Given the description of an element on the screen output the (x, y) to click on. 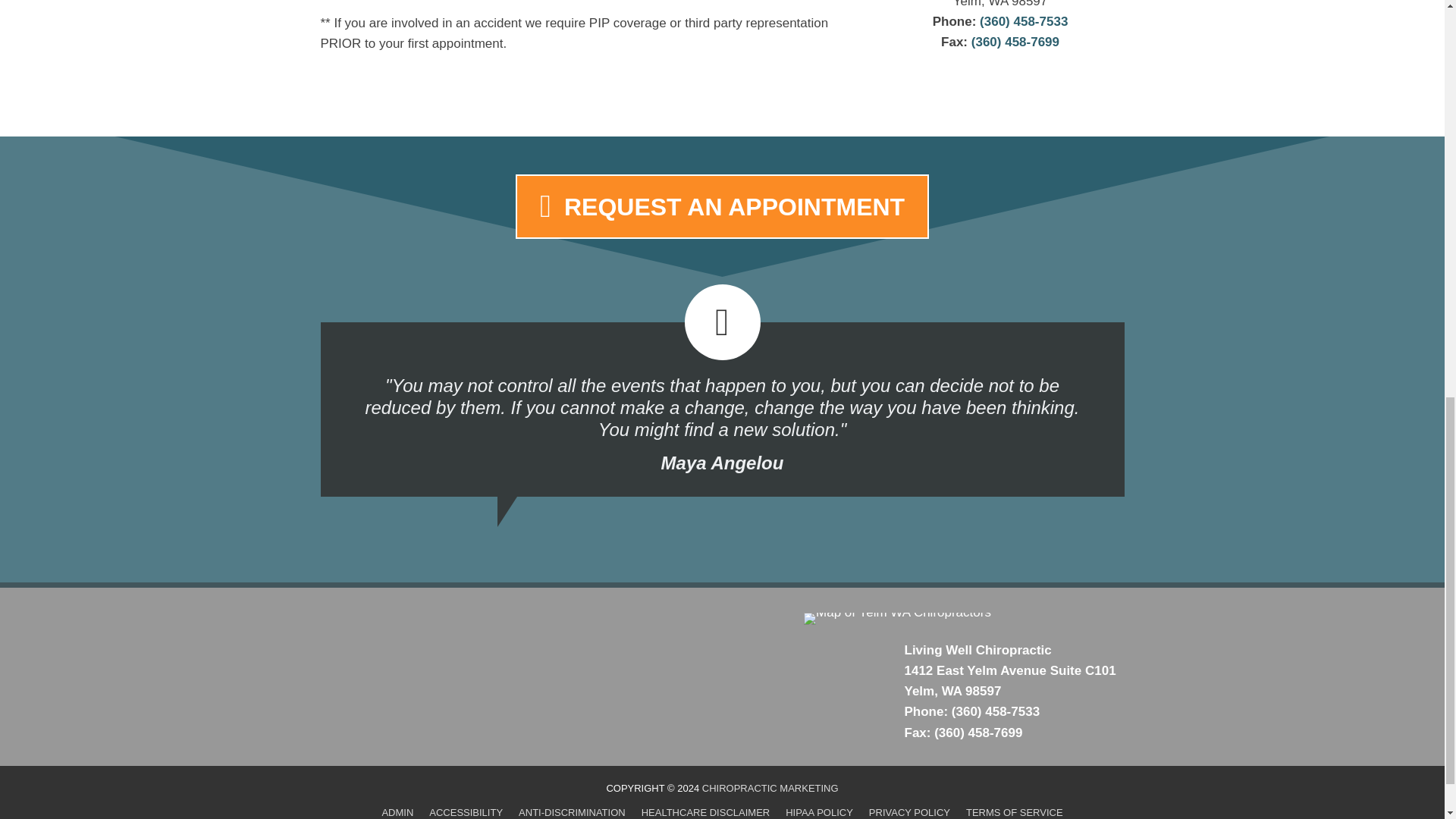
Map of Yelm WA Chiropractors (897, 618)
